Given the description of an element on the screen output the (x, y) to click on. 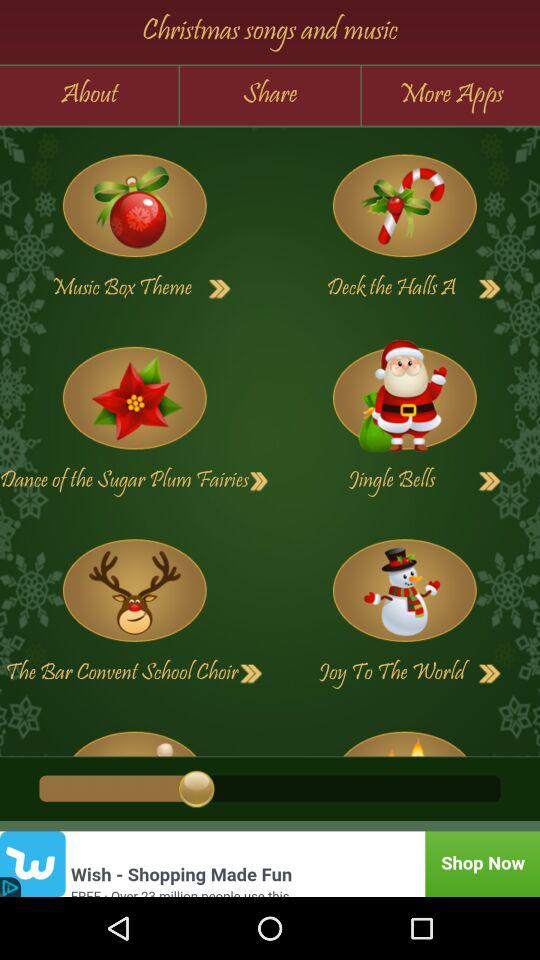
next page (490, 289)
